Given the description of an element on the screen output the (x, y) to click on. 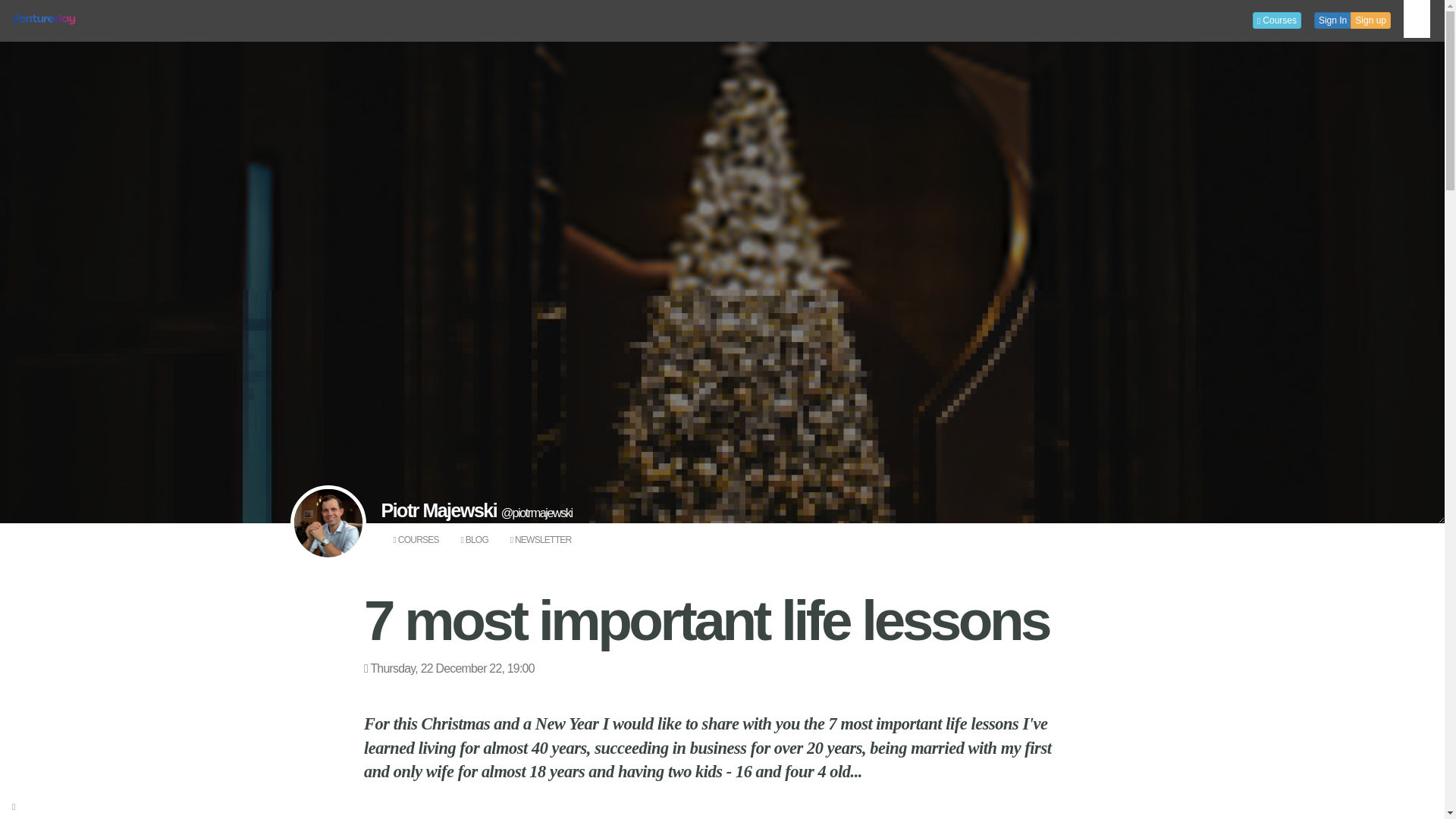
BLOG (473, 539)
Thursday, 22 December 22, 19:00 (449, 667)
Sign up (1370, 20)
Piotr Majewski (440, 509)
COURSES (415, 539)
We help you sell more knowledge (43, 17)
NEWSLETTER (541, 539)
Courses (1276, 20)
Sign In (1332, 20)
